Given the description of an element on the screen output the (x, y) to click on. 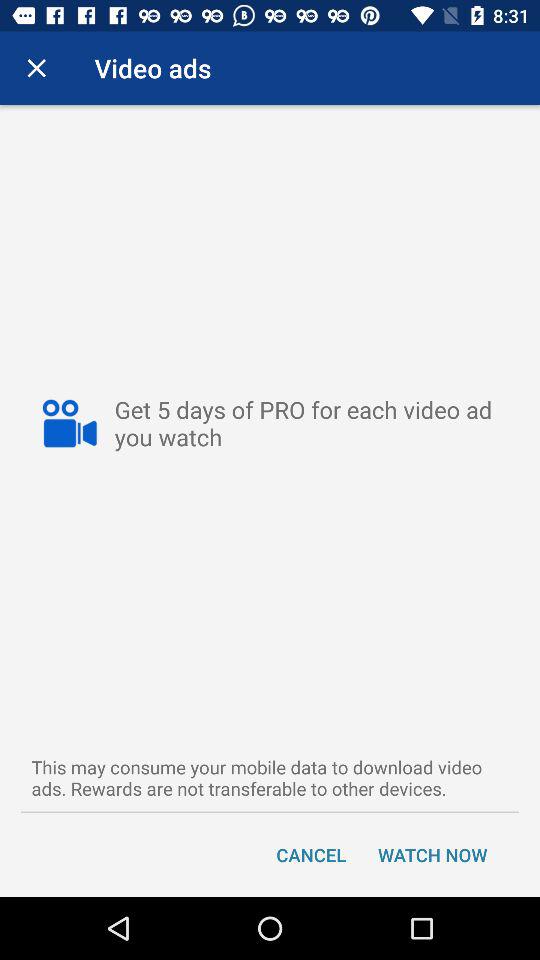
turn on item next to cancel item (432, 854)
